Given the description of an element on the screen output the (x, y) to click on. 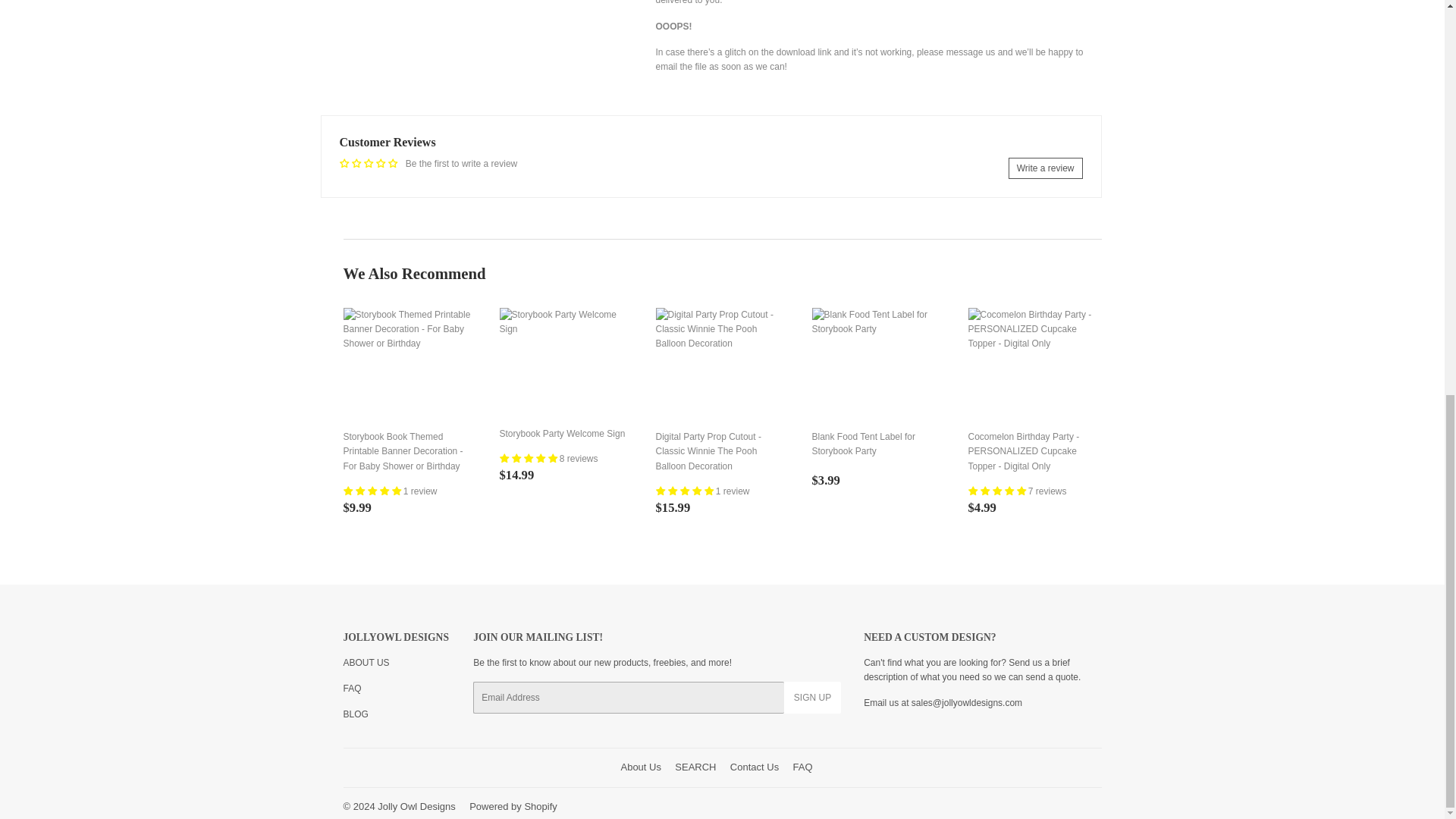
FREQUENTLY ASKED QUESTIONS (351, 688)
ABOUT US (365, 662)
Contact Us (966, 702)
